Given the description of an element on the screen output the (x, y) to click on. 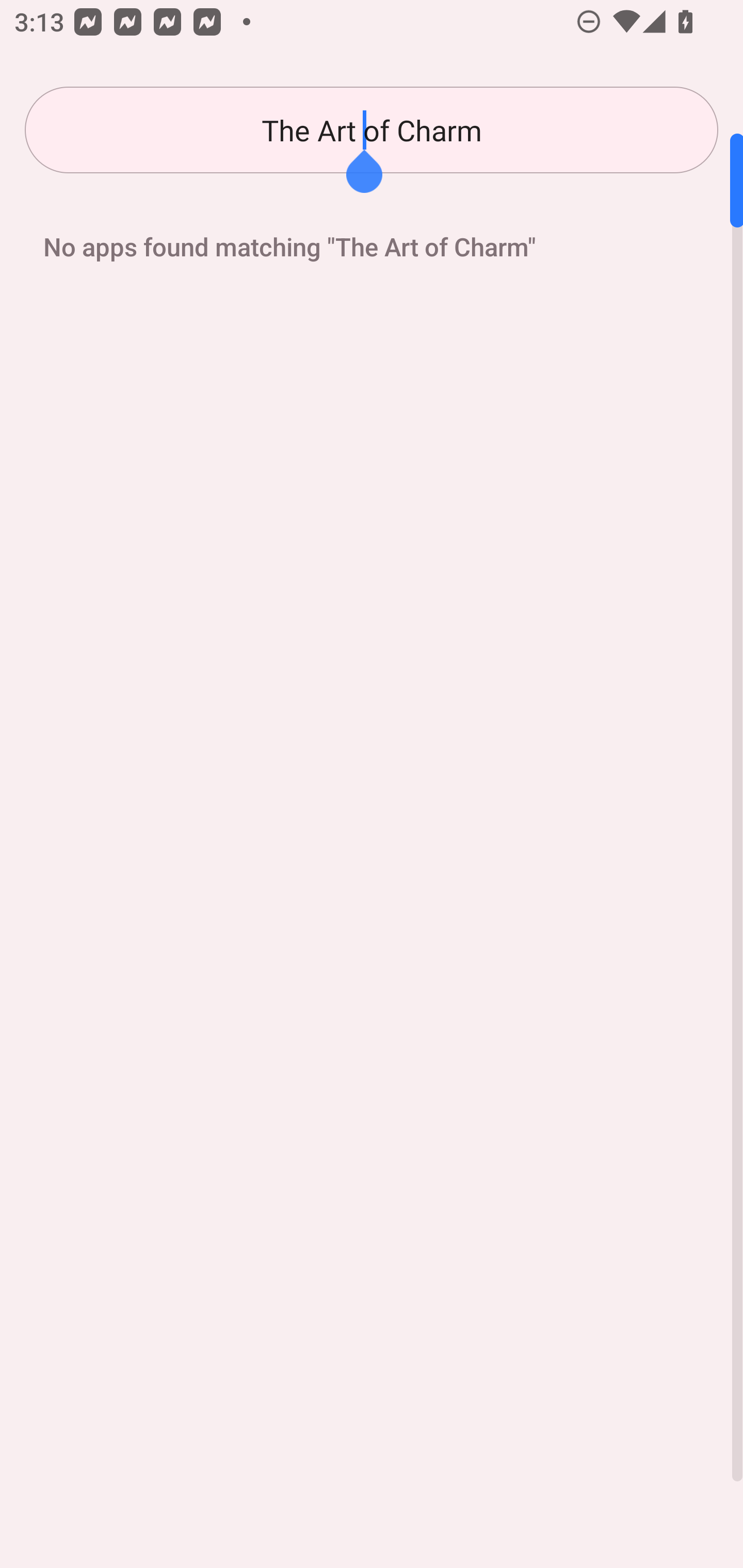
The Art of Charm (371, 130)
